Given the description of an element on the screen output the (x, y) to click on. 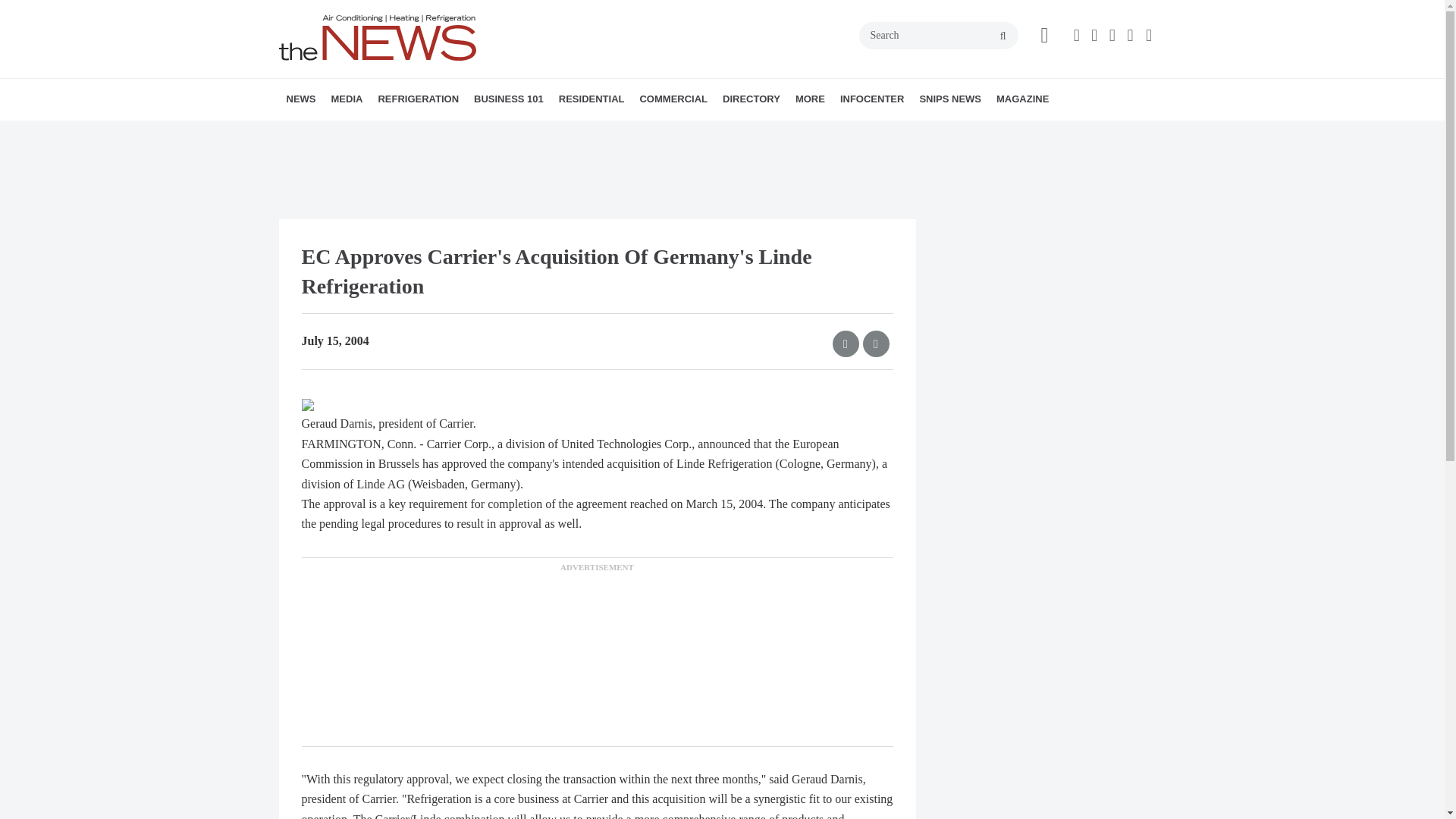
VIDEOS (417, 132)
REFRIGERATION (417, 98)
BREAKING NEWS (373, 132)
THE NEWS HVACR QUIZ (445, 132)
FROSTLINES (478, 132)
Search (938, 35)
BUSINESS 101 (508, 98)
AHR EXPO 2024 VIDEOS (424, 132)
search (1002, 36)
NEW HVAC PRODUCTS (380, 132)
